Given the description of an element on the screen output the (x, y) to click on. 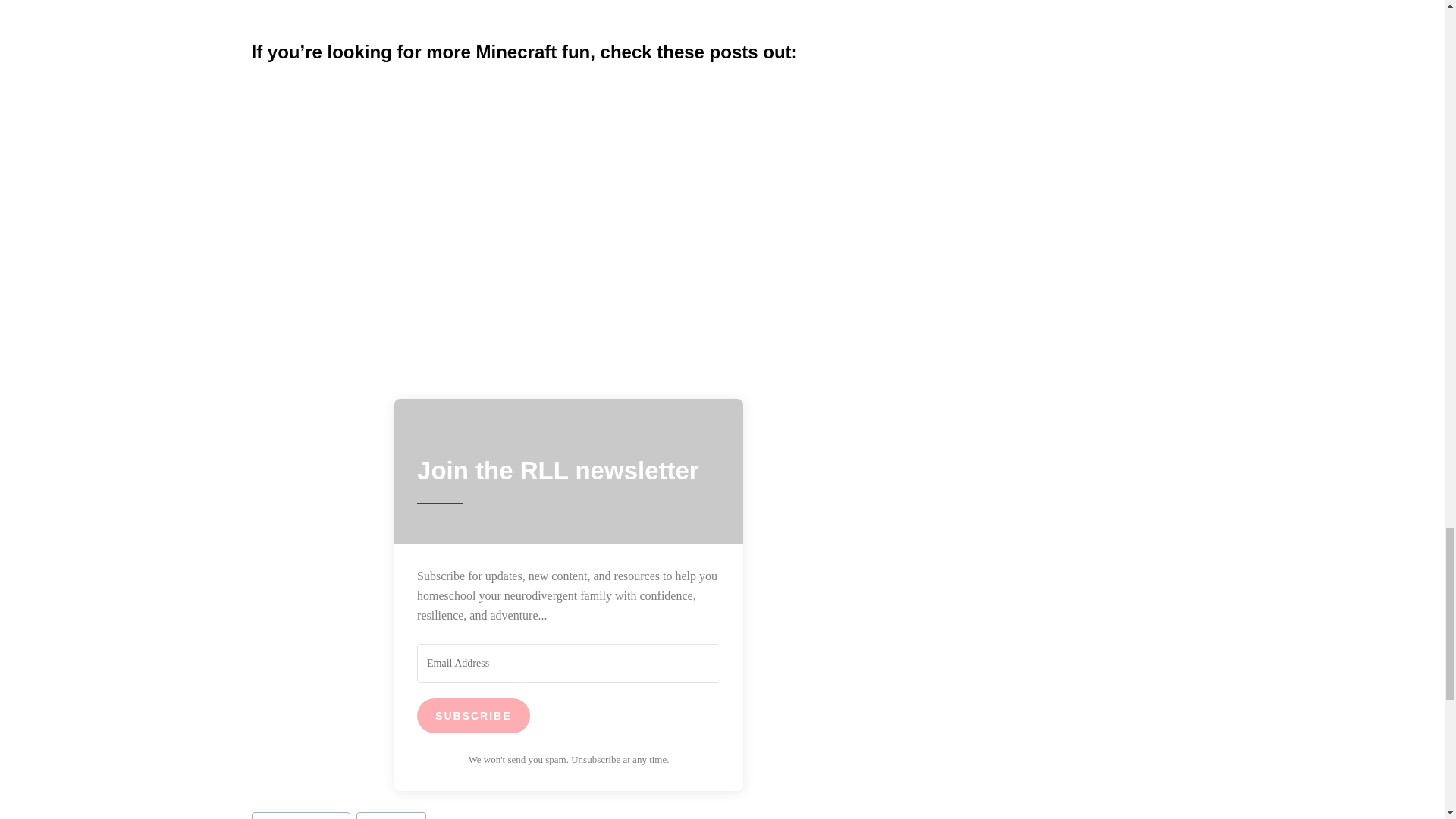
Minecraft (391, 815)
SUBSCRIBE (472, 715)
Homeschooling (300, 815)
